Given the description of an element on the screen output the (x, y) to click on. 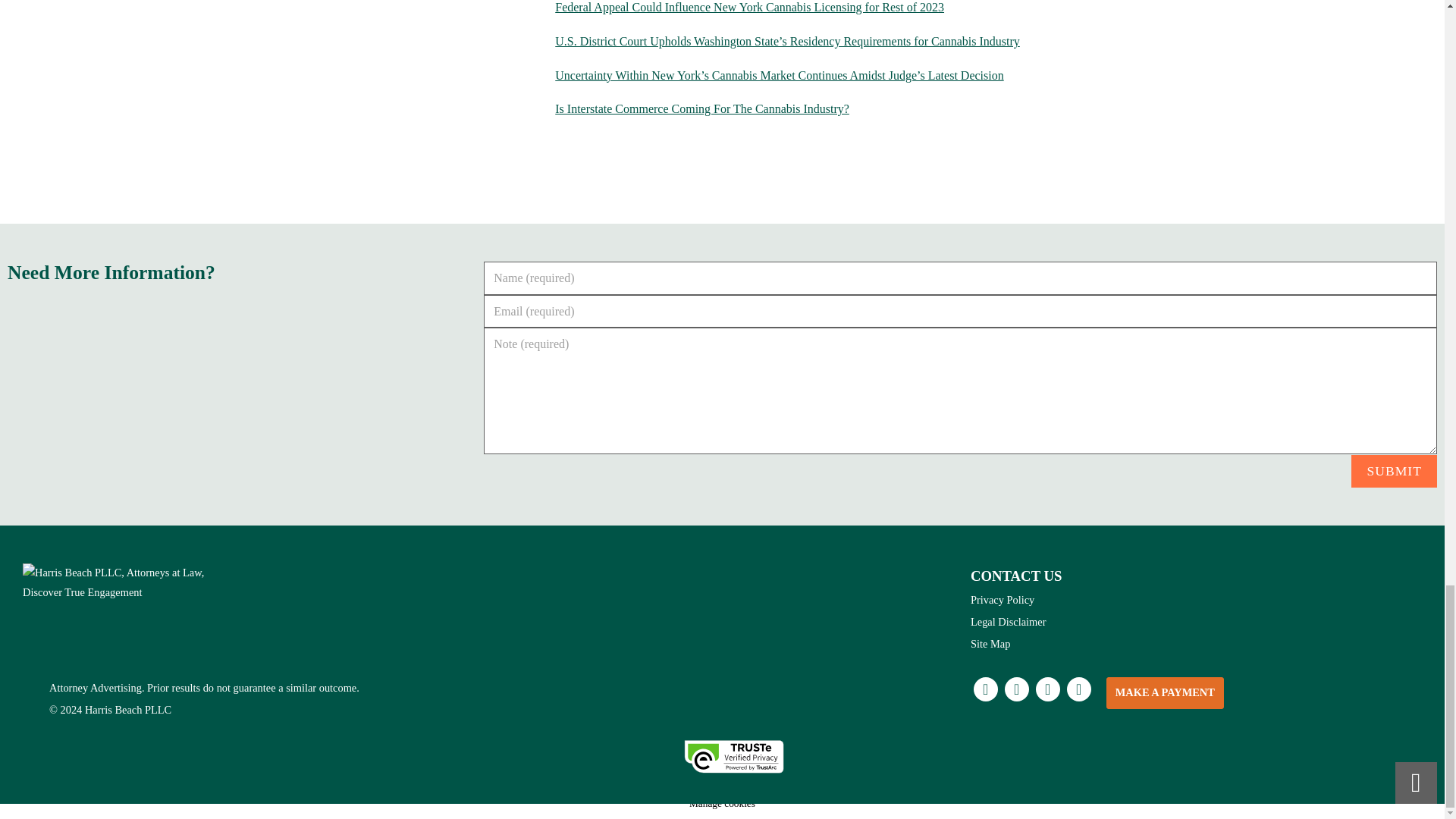
harris-beach-full-logo-white (117, 582)
